Given the description of an element on the screen output the (x, y) to click on. 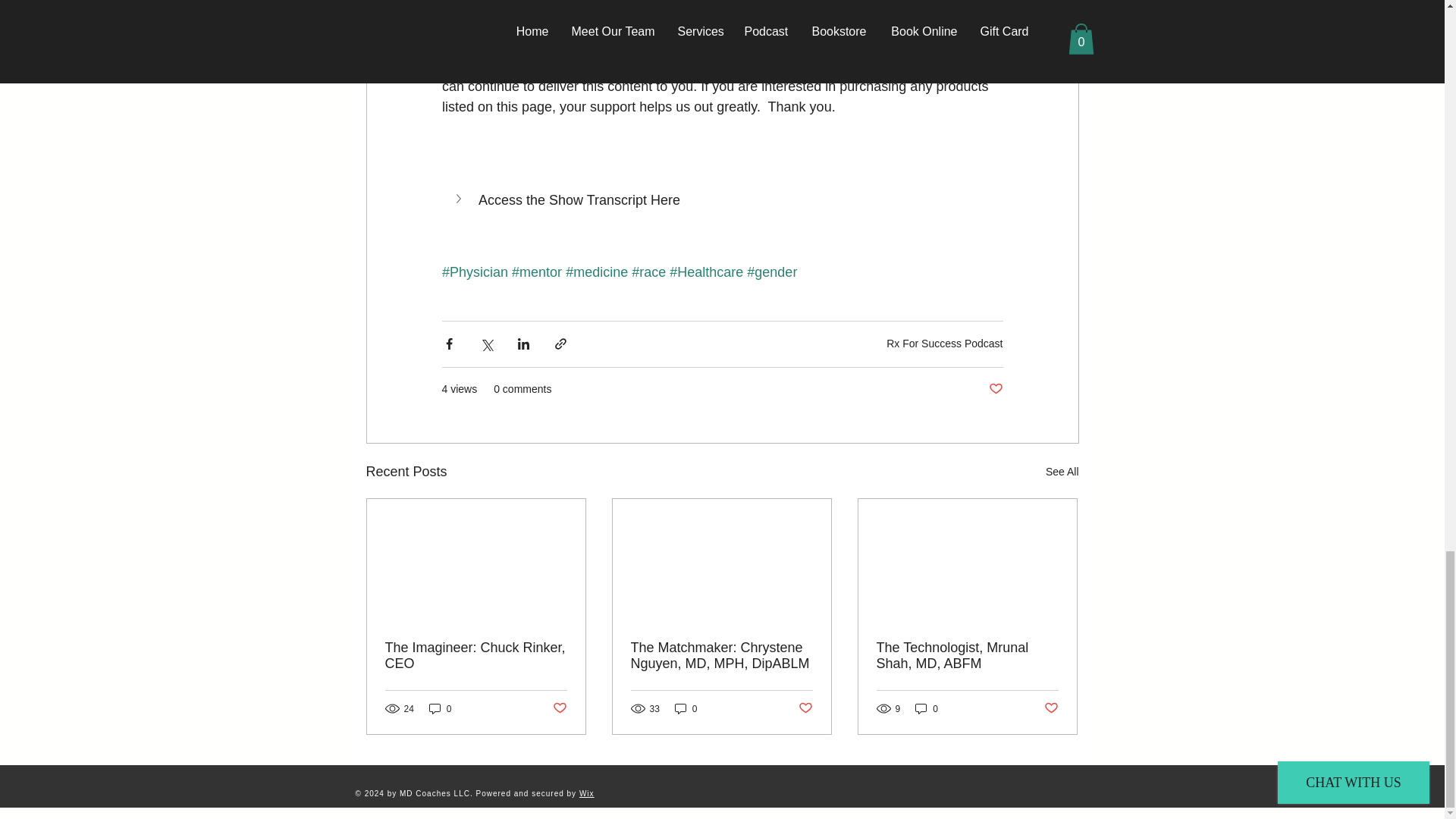
The Matchmaker: Chrystene Nguyen, MD, MPH, DipABLM (721, 655)
Rx For Success Podcast (944, 343)
Post not marked as liked (995, 389)
See All (1061, 472)
The Imagineer: Chuck Rinker, CEO (476, 655)
0 (440, 708)
Post not marked as liked (558, 708)
